Given the description of an element on the screen output the (x, y) to click on. 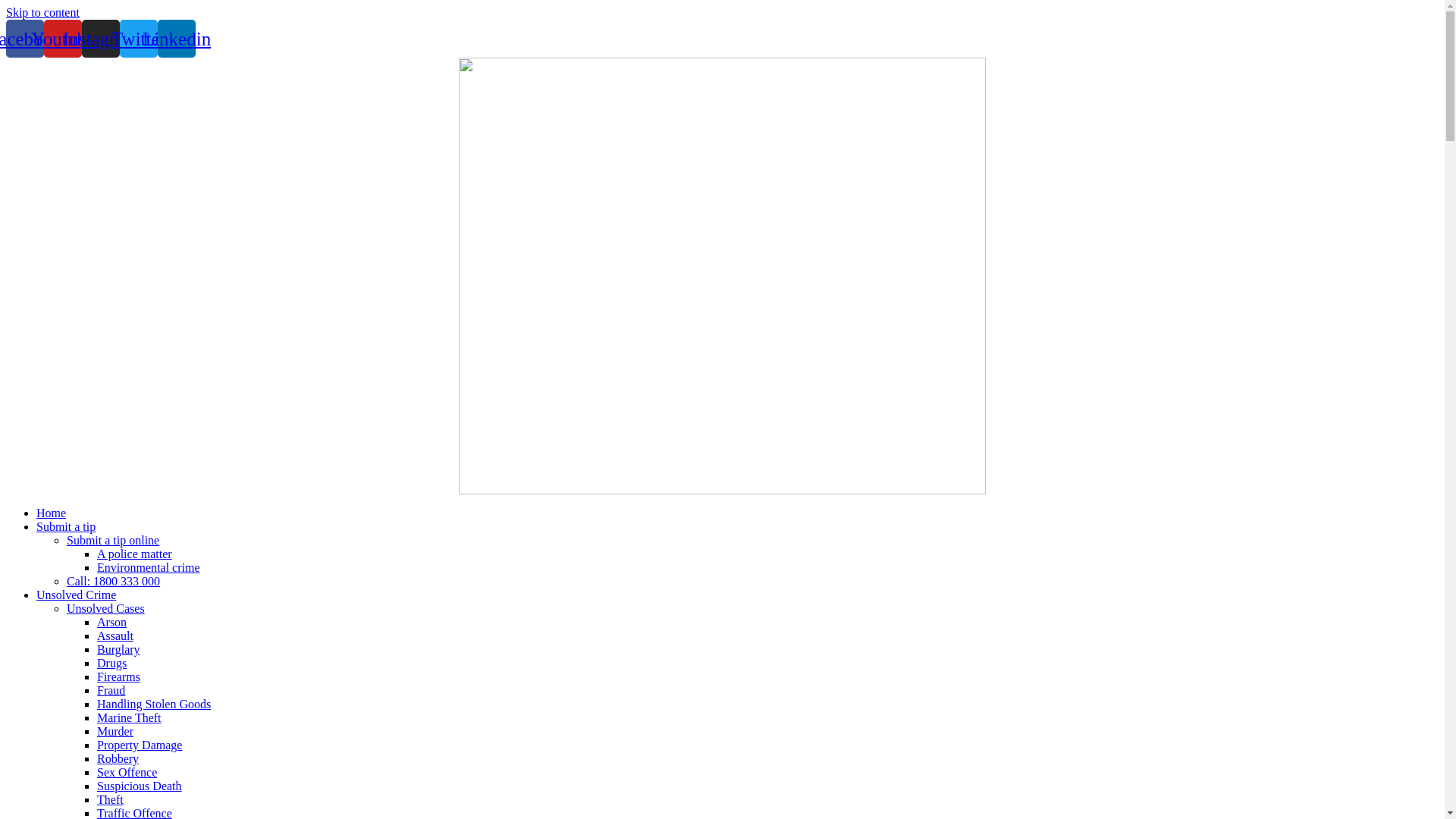
Twitter Element type: text (138, 38)
Murder Element type: text (115, 730)
Burglary Element type: text (118, 649)
Instagram Element type: text (100, 38)
Submit a tip online Element type: text (112, 539)
Environmental crime Element type: text (148, 567)
Theft Element type: text (110, 799)
Robbery Element type: text (117, 758)
Marine Theft Element type: text (129, 717)
Drugs Element type: text (111, 662)
Facebook Element type: text (24, 38)
Fraud Element type: text (111, 690)
Sex Offence Element type: text (126, 771)
A police matter Element type: text (134, 553)
Assault Element type: text (115, 635)
Linkedin Element type: text (176, 38)
Suspicious Death Element type: text (139, 785)
Handling Stolen Goods Element type: text (153, 703)
Submit a tip Element type: text (65, 526)
Unsolved Crime Element type: text (76, 594)
Arson Element type: text (111, 621)
Property Damage Element type: text (139, 744)
Unsolved Cases Element type: text (105, 608)
Home Element type: text (50, 512)
Skip to content Element type: text (42, 12)
Call: 1800 333 000 Element type: text (113, 580)
Youtube Element type: text (62, 38)
Firearms Element type: text (118, 676)
